Given the description of an element on the screen output the (x, y) to click on. 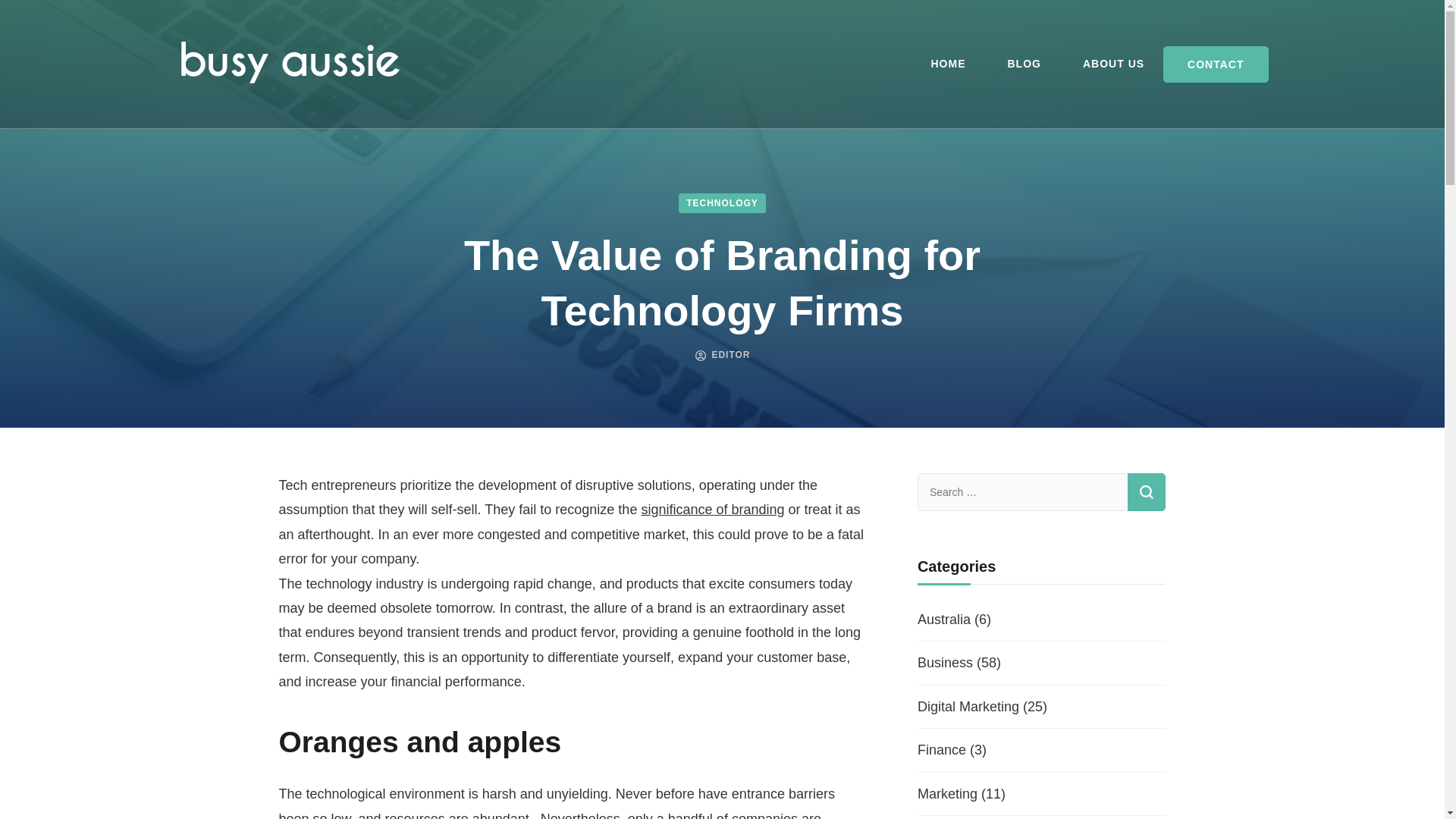
Finance (941, 749)
Marketing (946, 793)
TECHNOLOGY (721, 202)
Search (1146, 492)
Business (944, 662)
ABOUT US (1113, 64)
Australia (944, 619)
Search (1146, 492)
HOME (947, 64)
Digital Marketing (968, 706)
EDITOR (730, 355)
BLOG (1023, 64)
Search (1146, 492)
significance of branding (712, 509)
CONTACT (1215, 63)
